Given the description of an element on the screen output the (x, y) to click on. 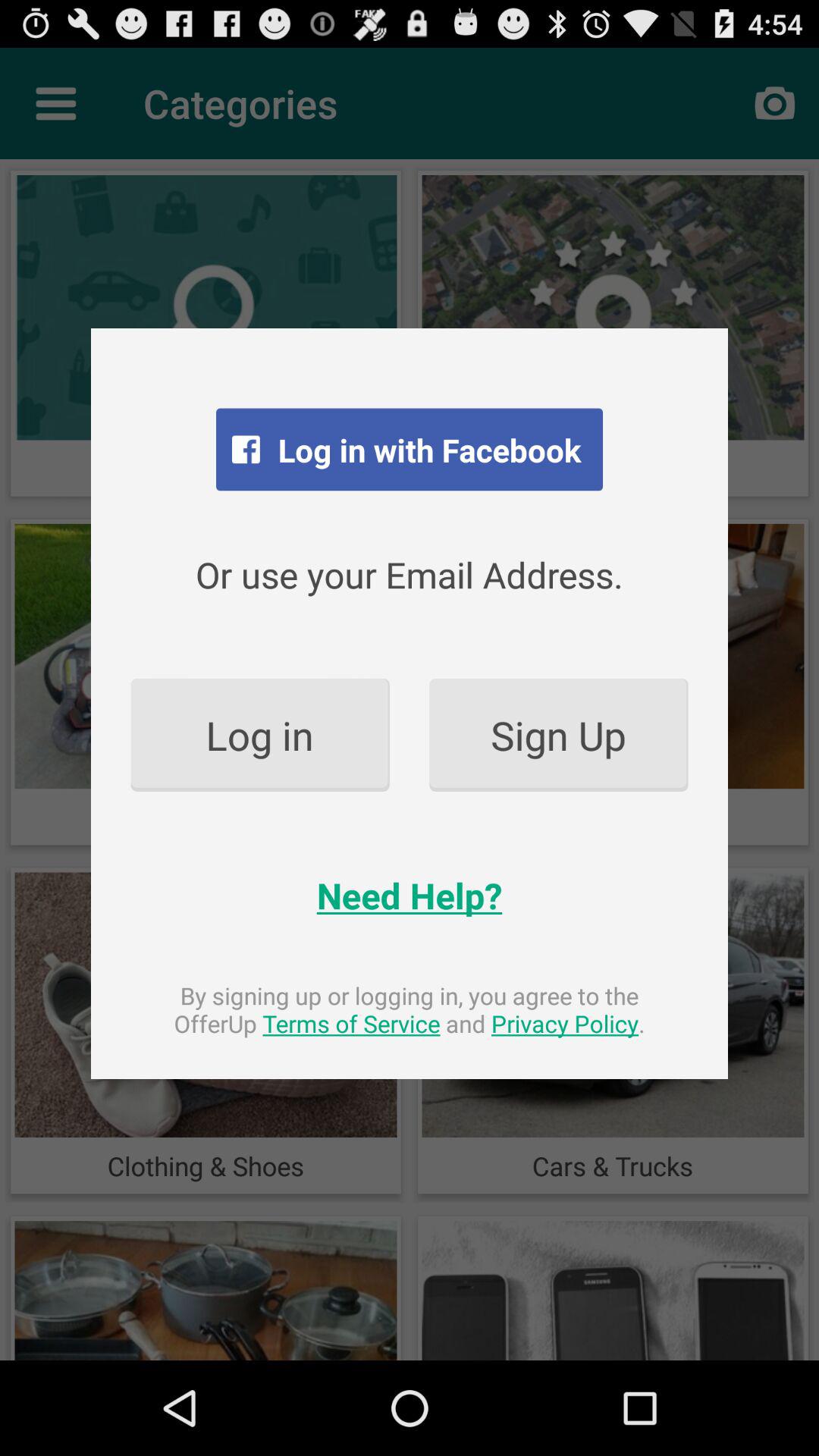
select the sign up on the right (558, 734)
